Given the description of an element on the screen output the (x, y) to click on. 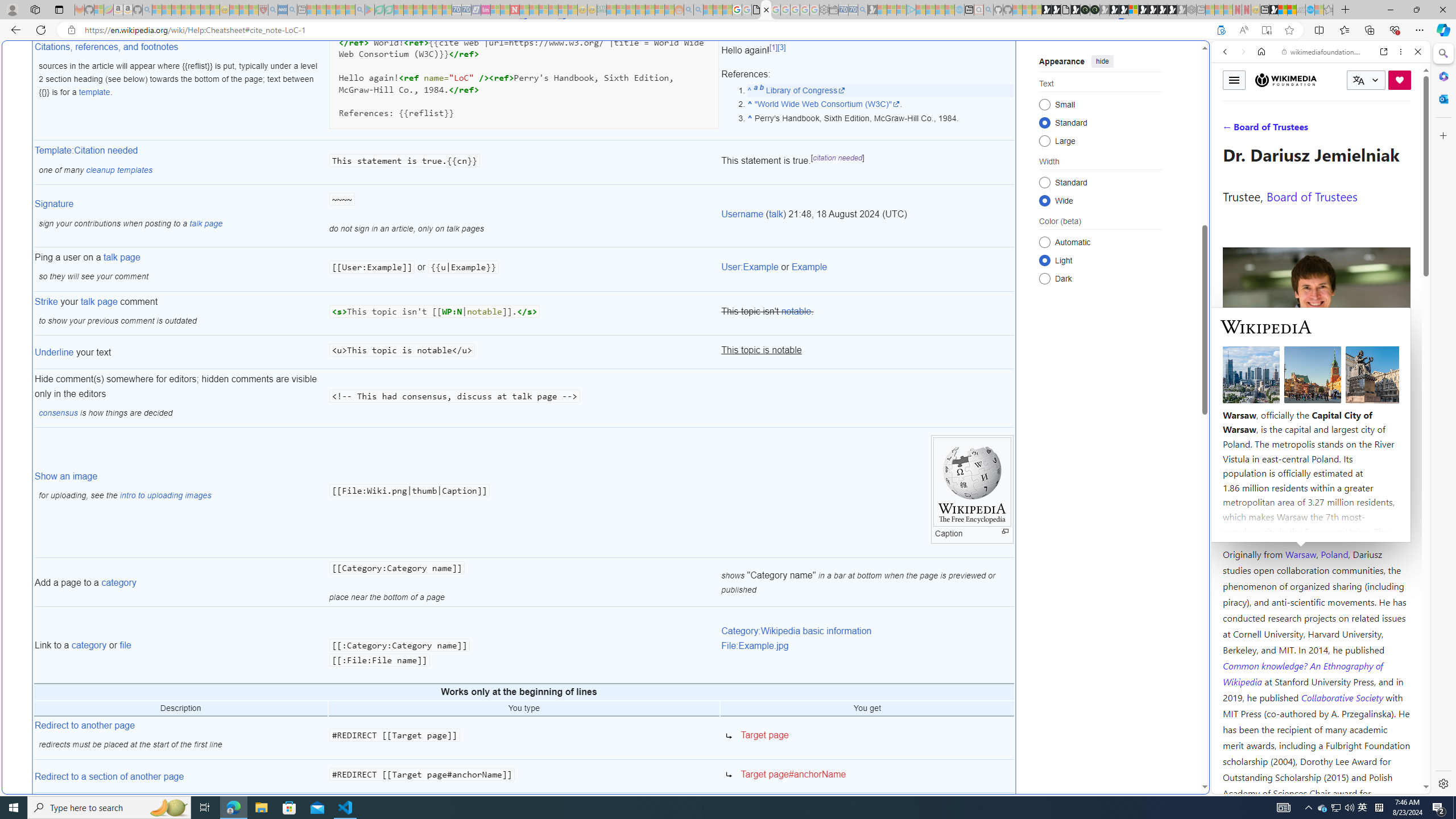
^ Perry's Handbook, Sixth Edition, McGraw-Hill Co., 1984. (879, 118)
Signature (54, 204)
Strike (46, 301)
hide (1102, 60)
Profile on Meta-Wiki (1273, 405)
